Given the description of an element on the screen output the (x, y) to click on. 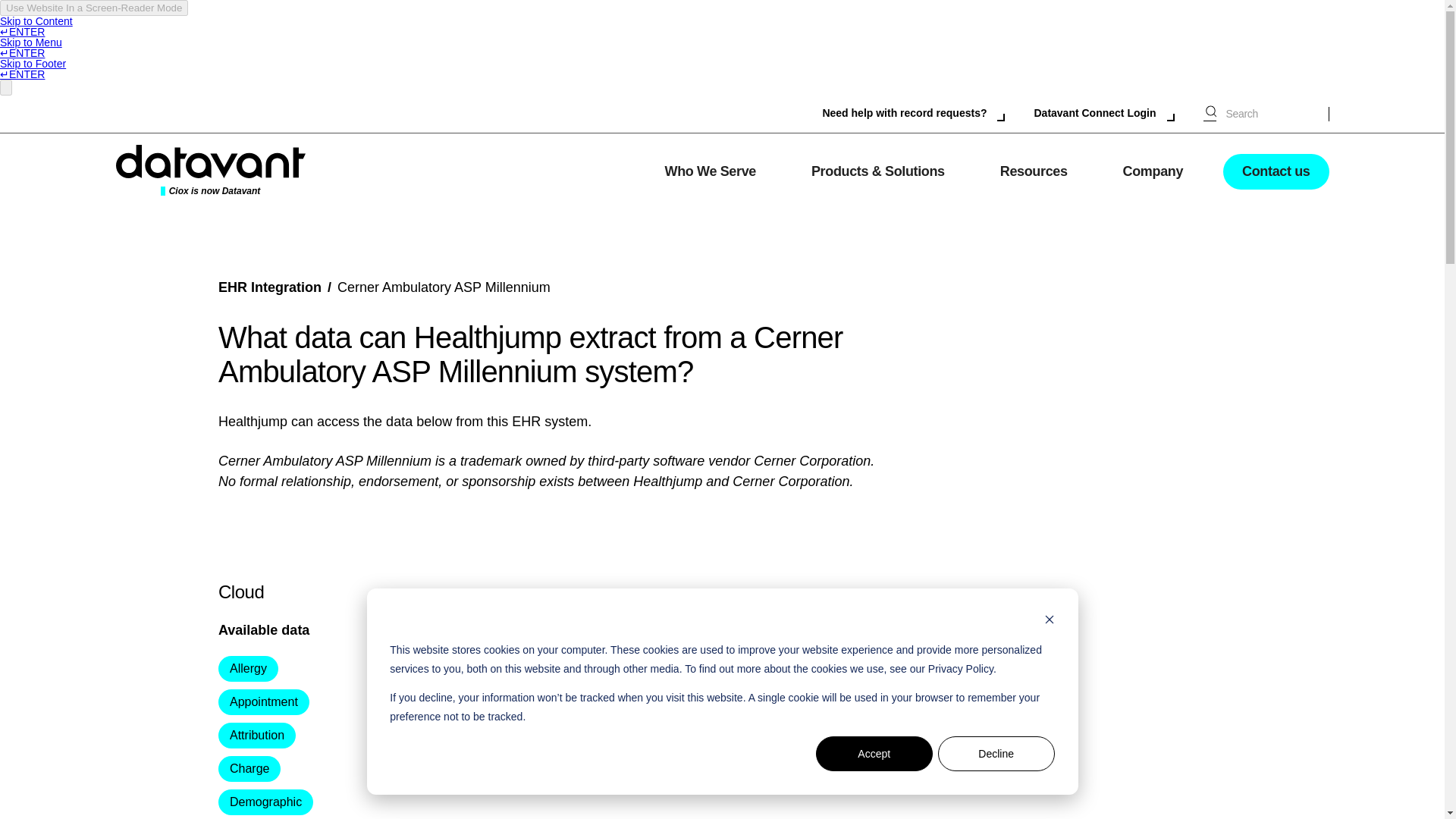
Datavant Connect Login (1103, 114)
Need help with record requests? (913, 114)
Ciox is now Datavant (209, 171)
